Given the description of an element on the screen output the (x, y) to click on. 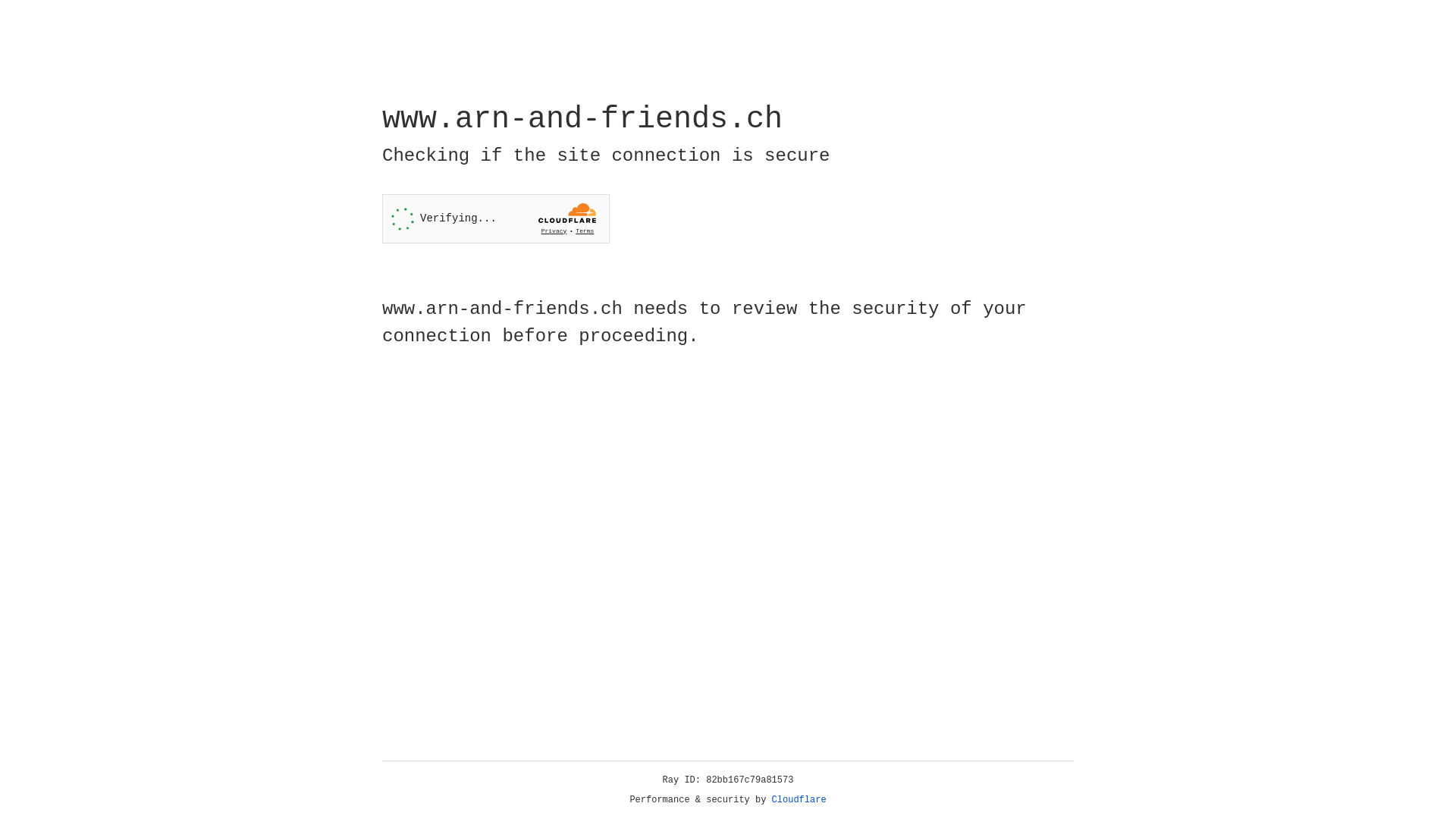
Cloudflare Element type: text (798, 799)
Widget containing a Cloudflare security challenge Element type: hover (495, 218)
